Given the description of an element on the screen output the (x, y) to click on. 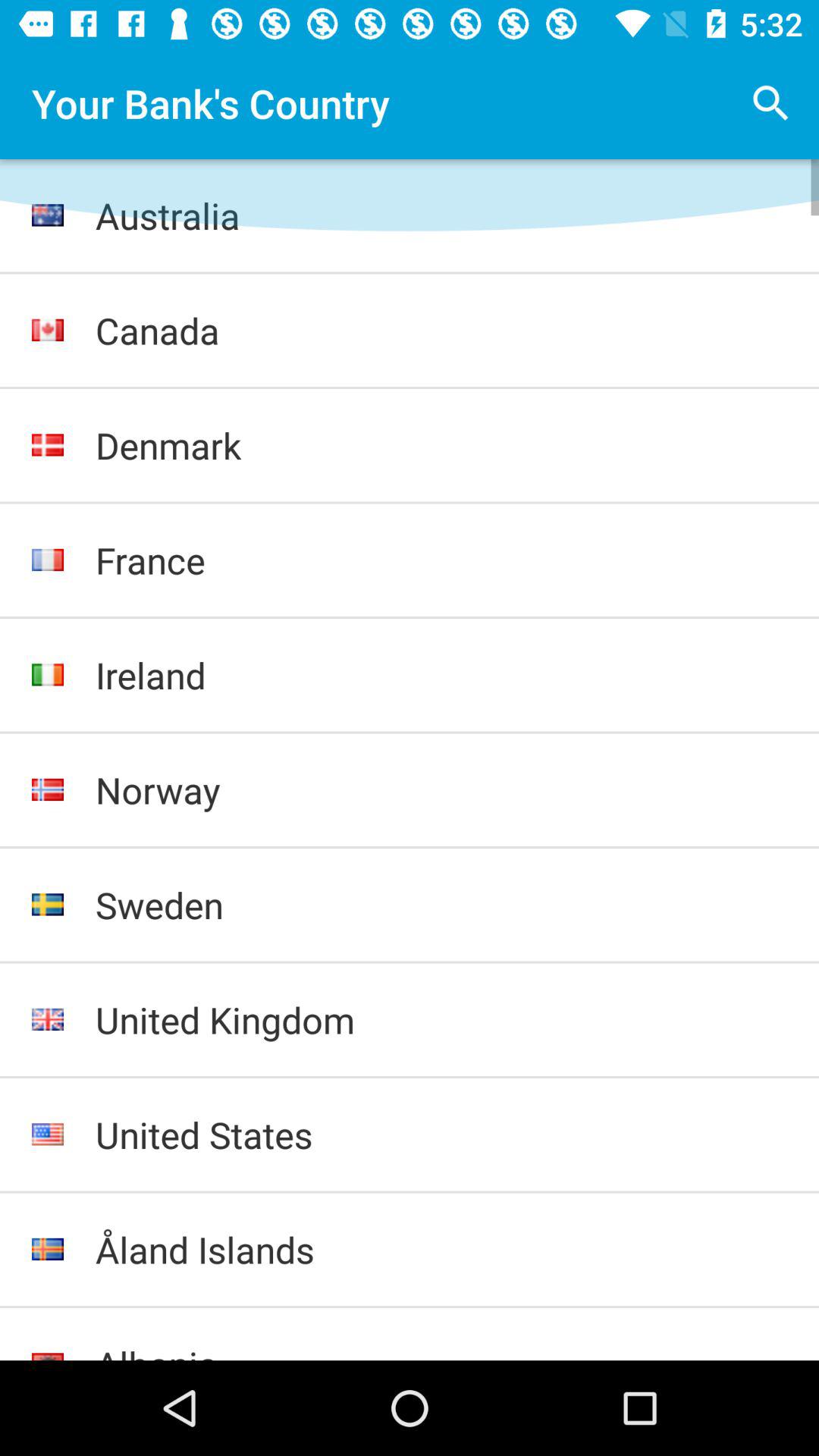
click icon below canada icon (441, 444)
